Given the description of an element on the screen output the (x, y) to click on. 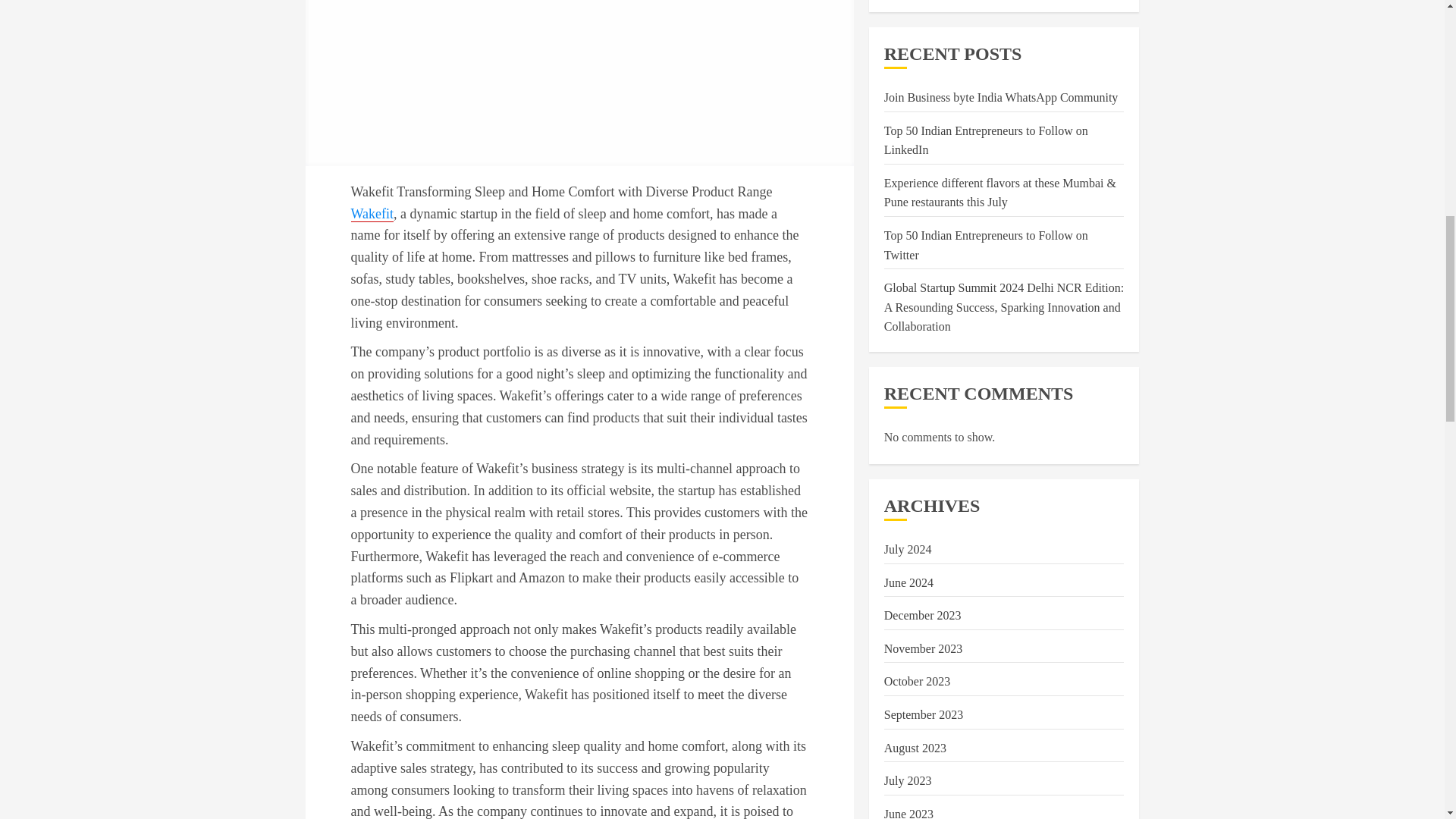
Wakefit (371, 213)
